Given the description of an element on the screen output the (x, y) to click on. 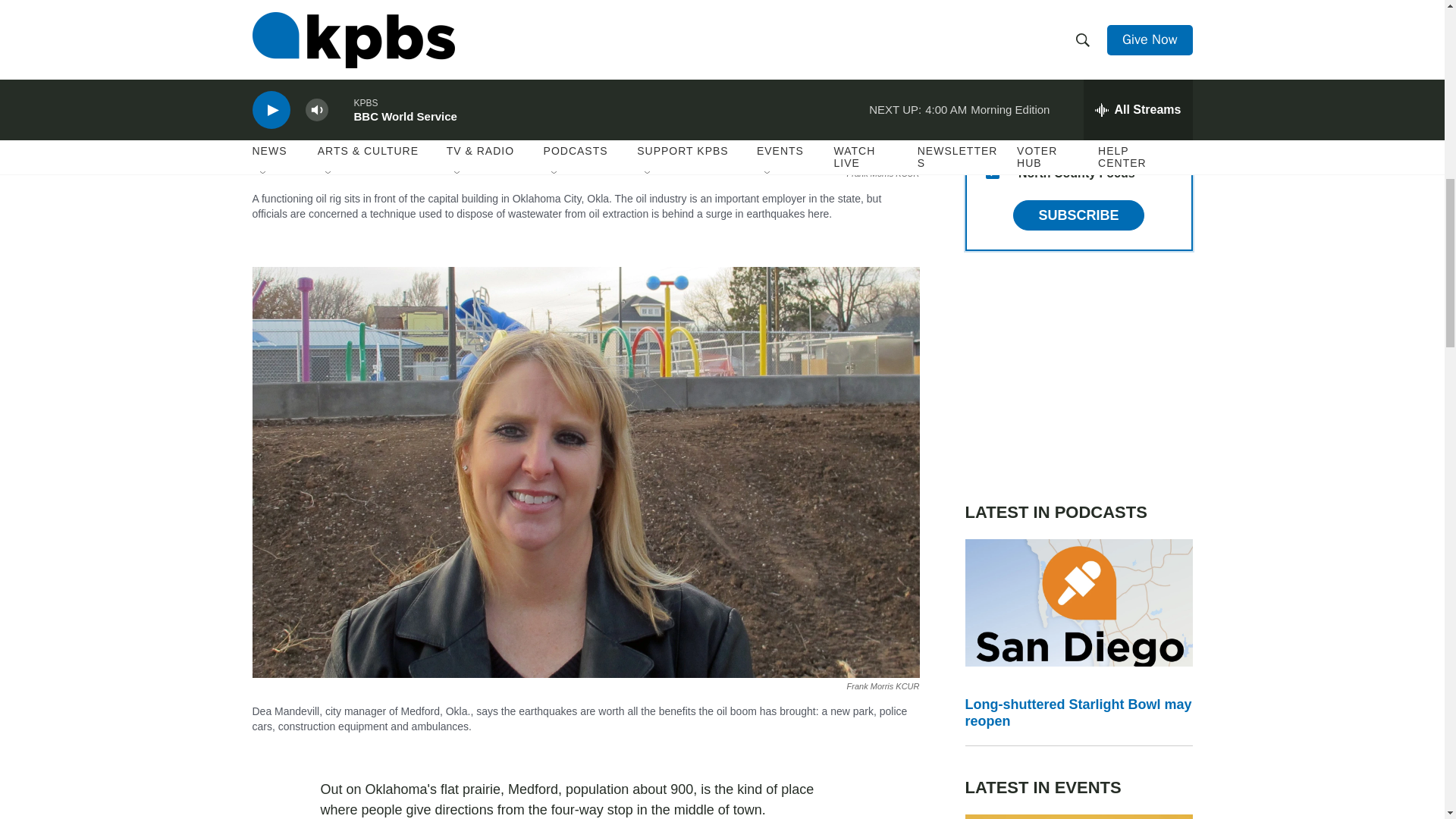
2 (991, 62)
6 (991, 26)
1 (991, 99)
8 (991, 135)
15 (991, 172)
